Given the description of an element on the screen output the (x, y) to click on. 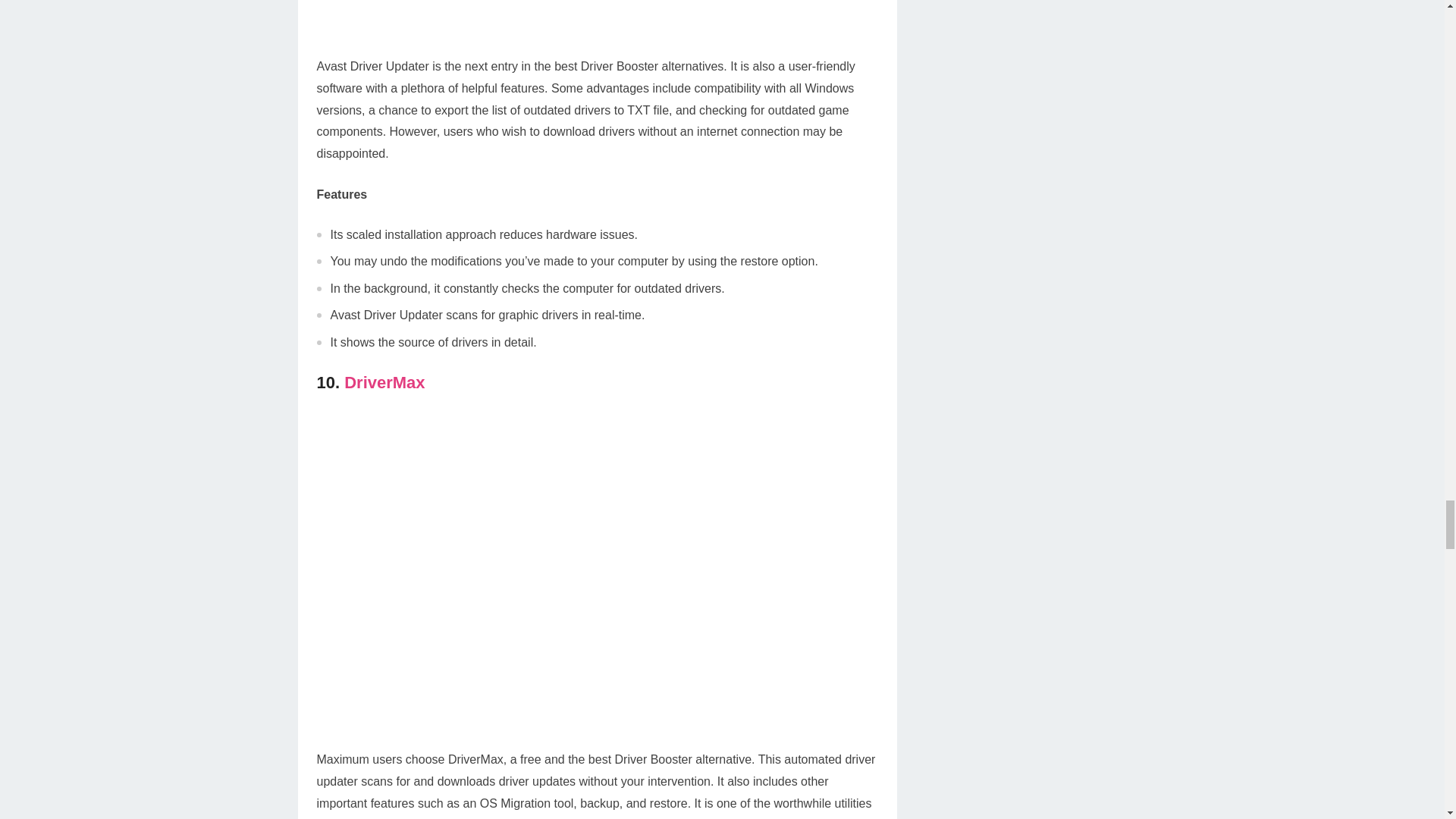
DriverMax (384, 382)
